Given the description of an element on the screen output the (x, y) to click on. 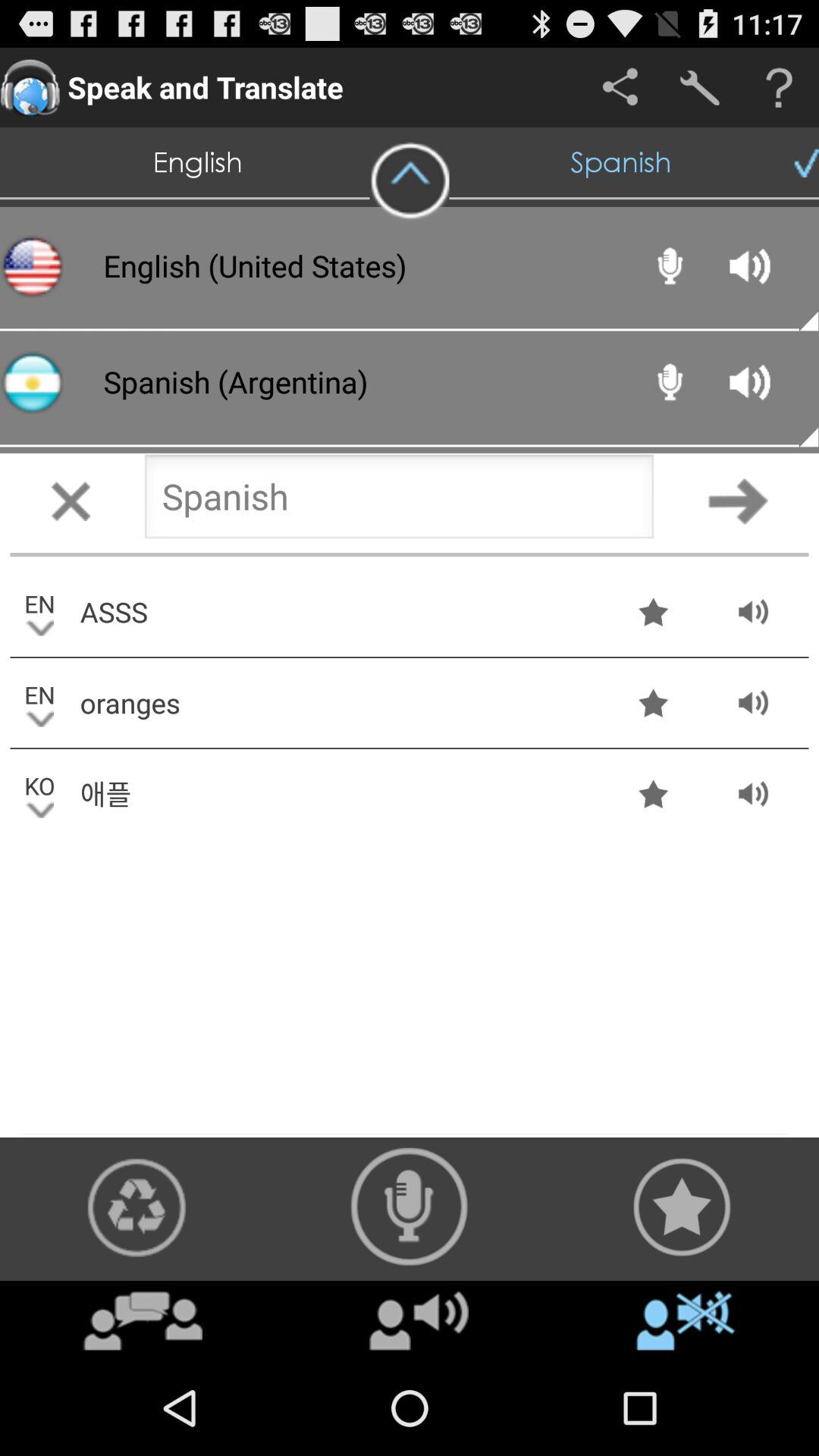
cancel button (70, 500)
